Given the description of an element on the screen output the (x, y) to click on. 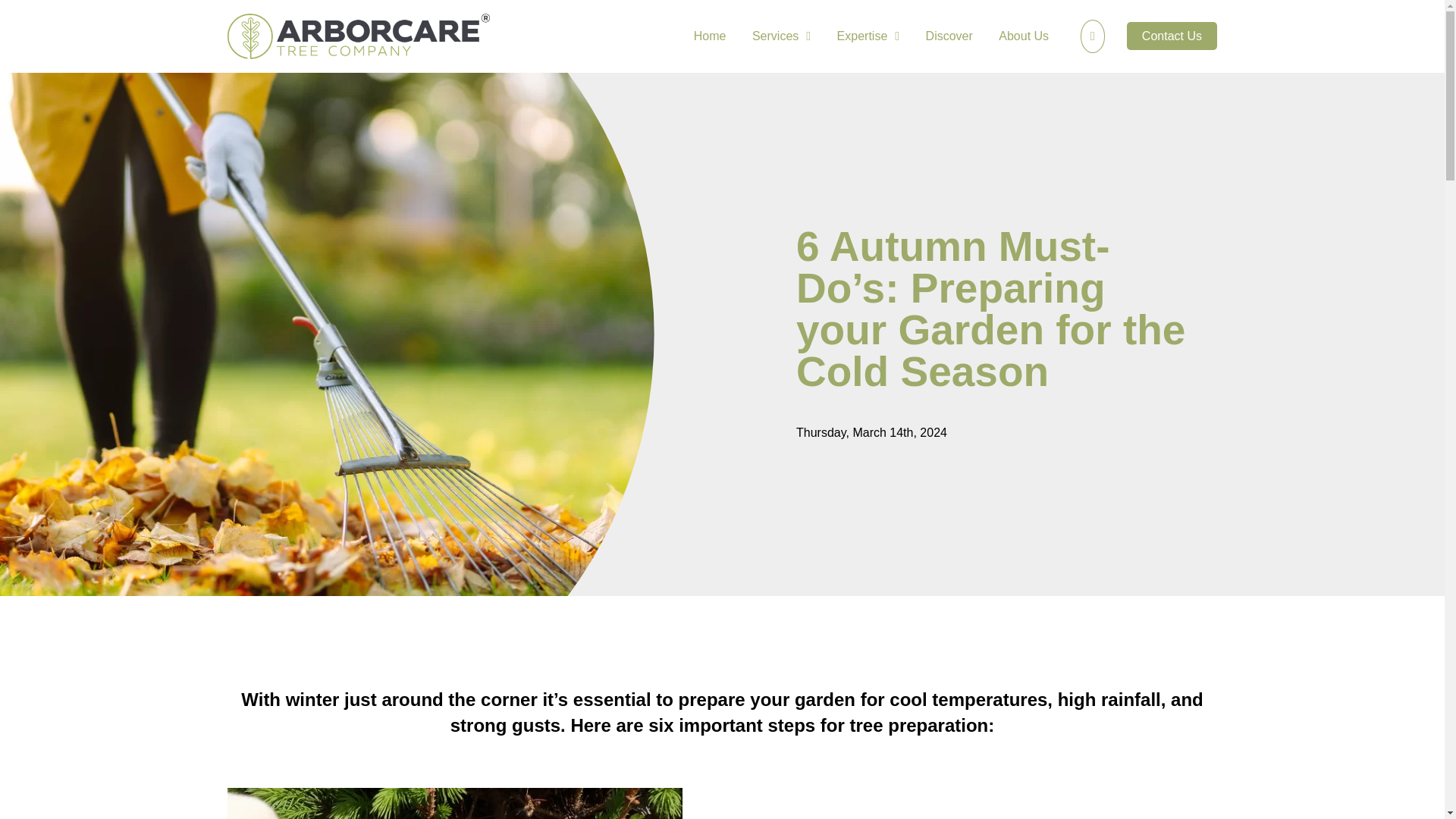
Services (781, 39)
Discover (949, 39)
Home (710, 39)
About Us (1023, 39)
Expertise (868, 39)
Contact Us (1171, 35)
